Given the description of an element on the screen output the (x, y) to click on. 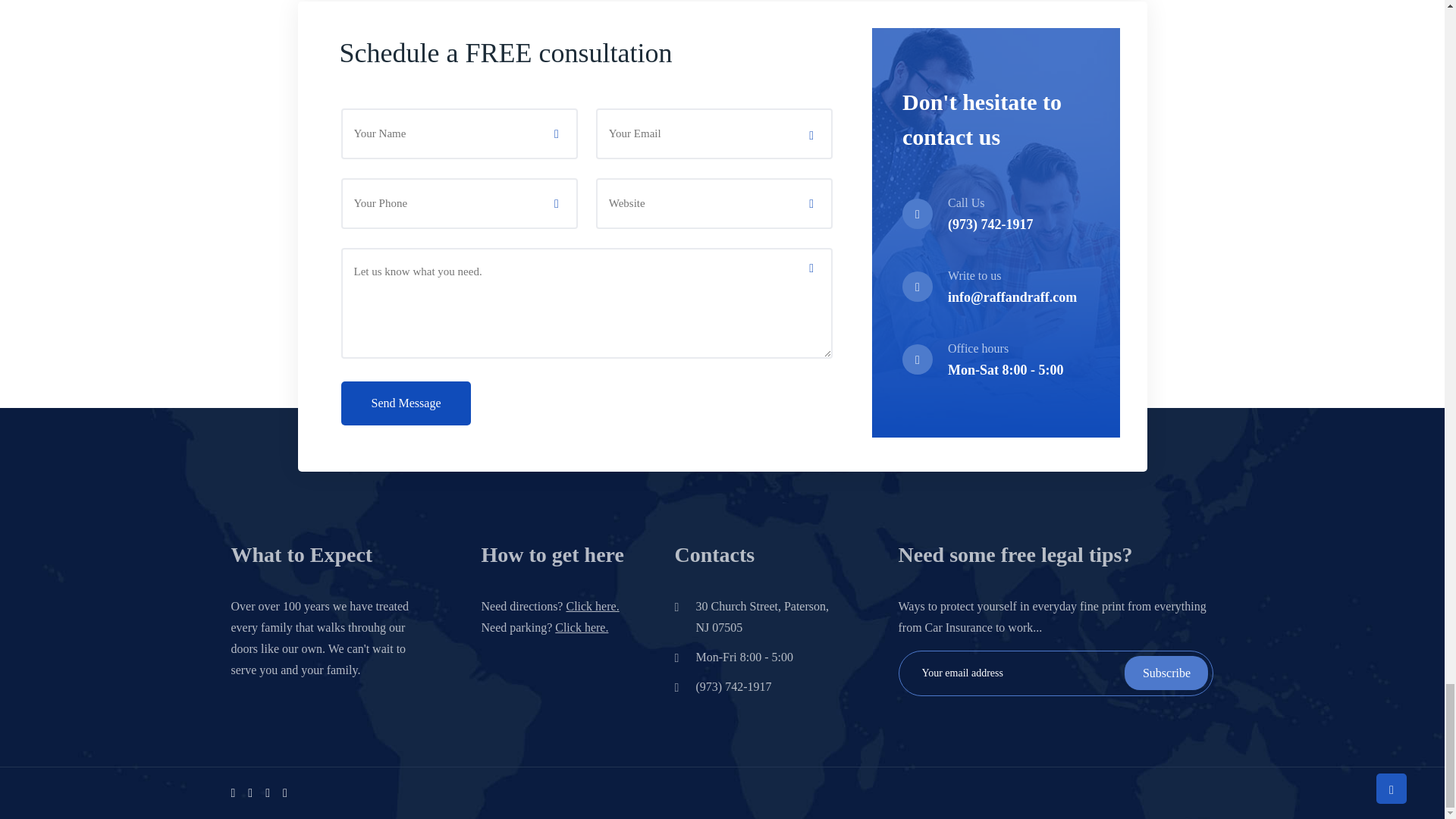
Send Message (405, 403)
